Given the description of an element on the screen output the (x, y) to click on. 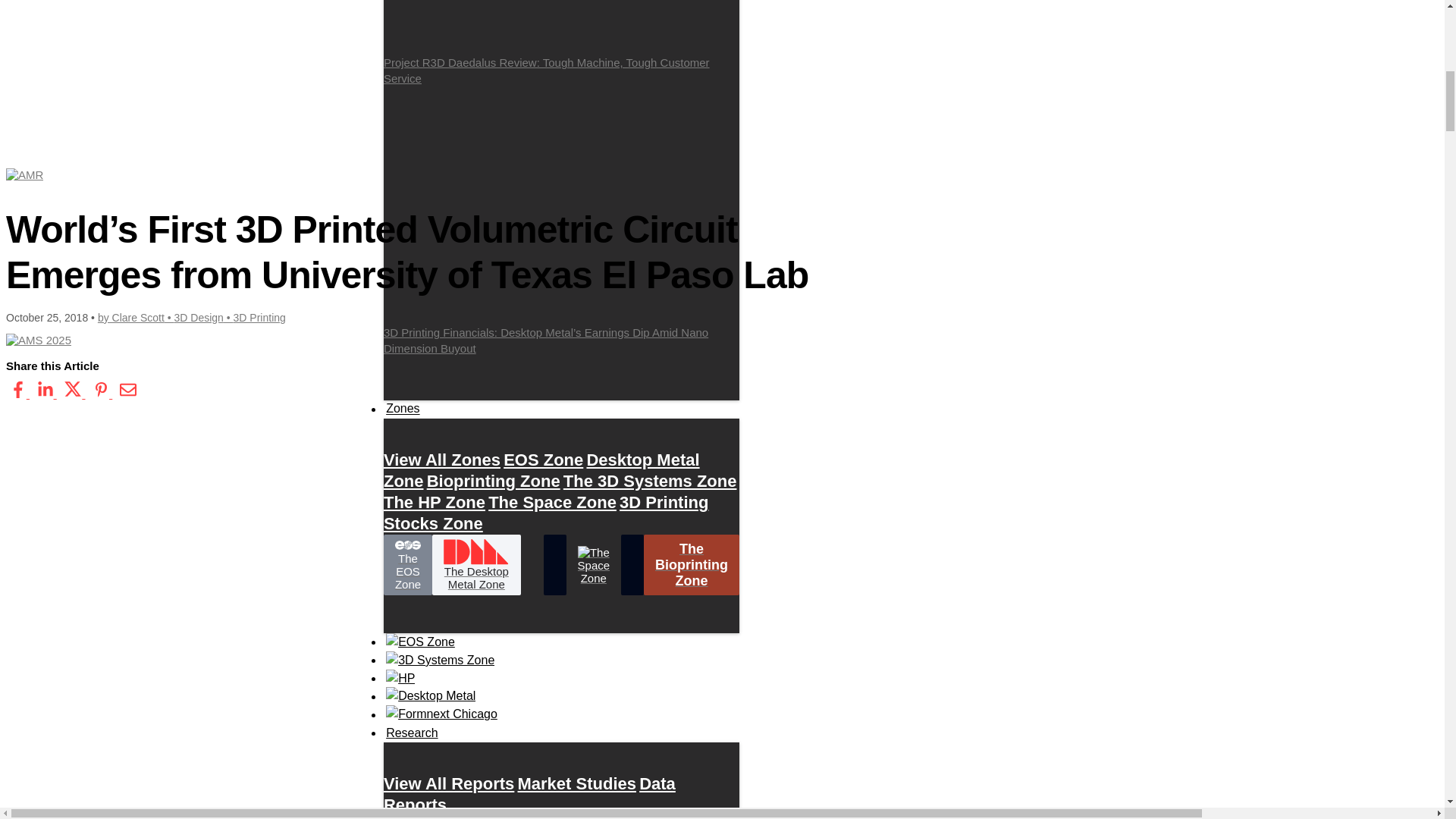
Bioprinting Zone (493, 480)
The 3D Systems Zone (649, 480)
The Desktop Metal Zone (475, 564)
The Space Zone (551, 502)
EOS Zone (543, 459)
3D Printing Stocks Zone (545, 512)
The HP Zone (434, 502)
Desktop Metal Zone (542, 470)
Zones (403, 408)
